Given the description of an element on the screen output the (x, y) to click on. 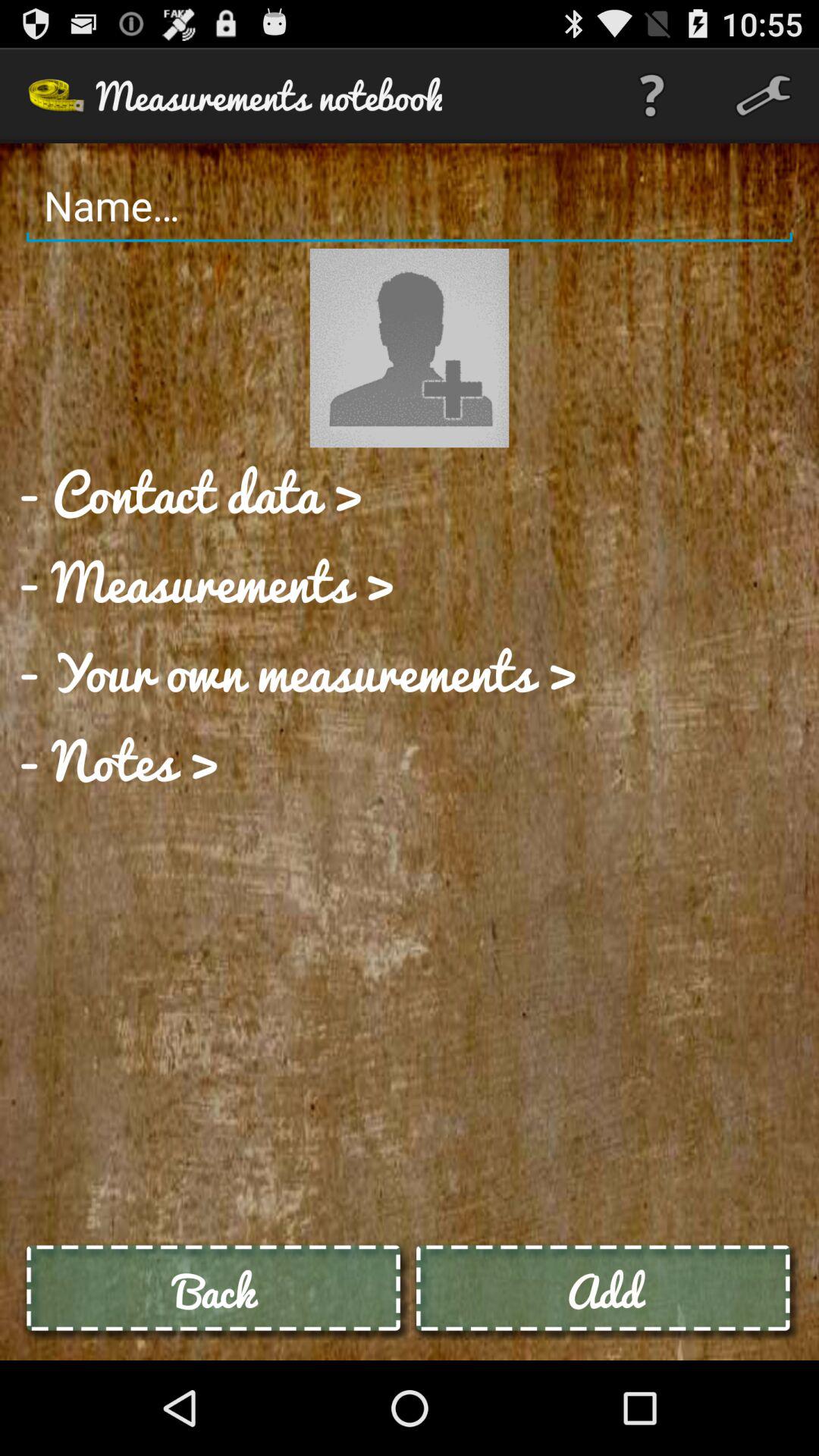
click - contact data > icon (190, 491)
